Given the description of an element on the screen output the (x, y) to click on. 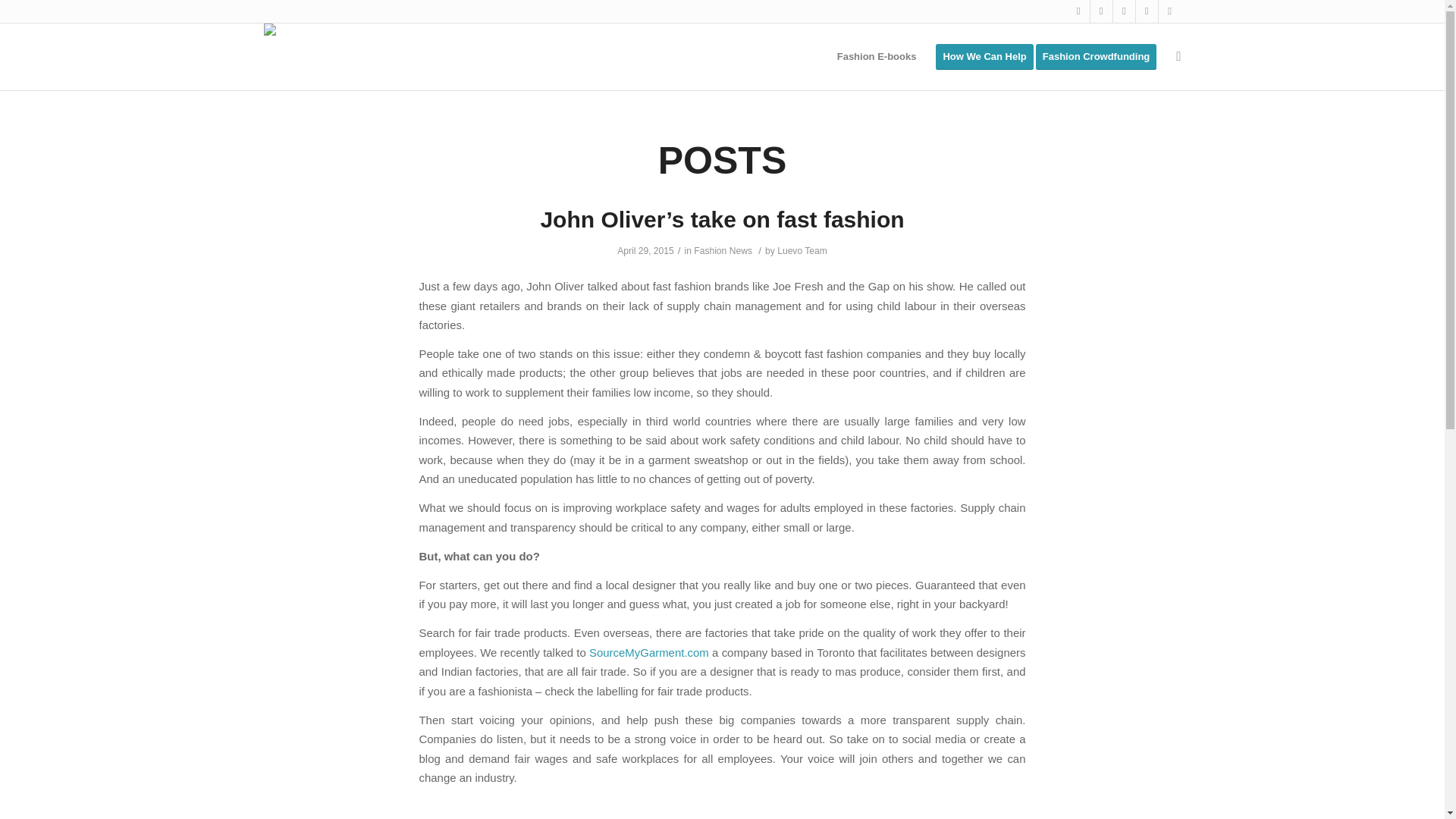
Gplus (1124, 11)
SourceMyGarment.com (649, 652)
Luevo Team (802, 250)
Fashion E-books (876, 56)
Posts by Luevo Team (802, 250)
Instagram (1146, 11)
How We Can Help (984, 56)
Fashion News (723, 250)
Facebook (1101, 11)
Twitter (1078, 11)
Pinterest (1169, 11)
Fashion Crowdfunding (1101, 56)
